Given the description of an element on the screen output the (x, y) to click on. 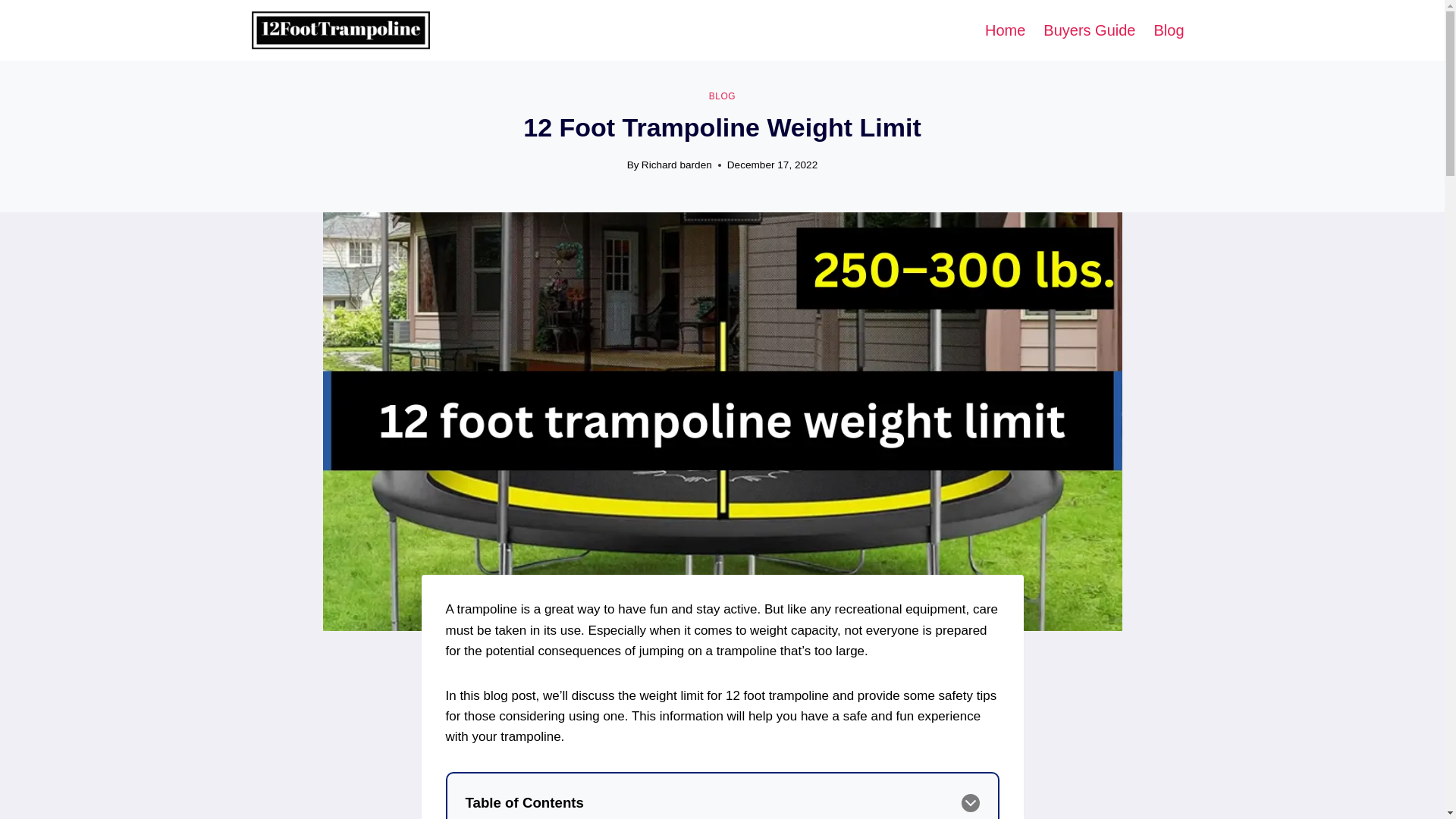
Blog (1168, 30)
Buyers Guide (1088, 30)
BLOG (722, 95)
Richard barden (676, 164)
Home (1004, 30)
